Given the description of an element on the screen output the (x, y) to click on. 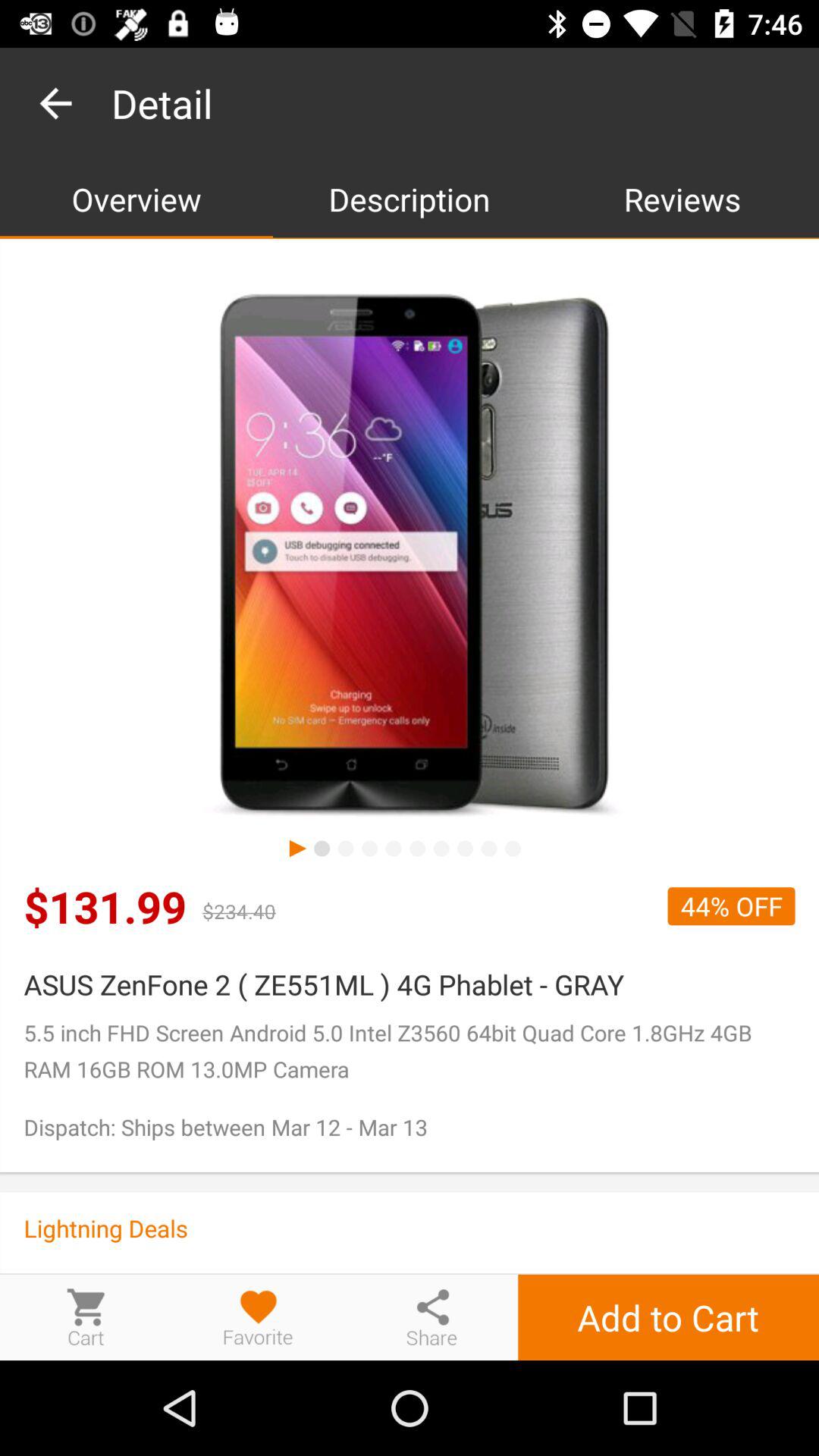
tap the item next to the description item (136, 198)
